Given the description of an element on the screen output the (x, y) to click on. 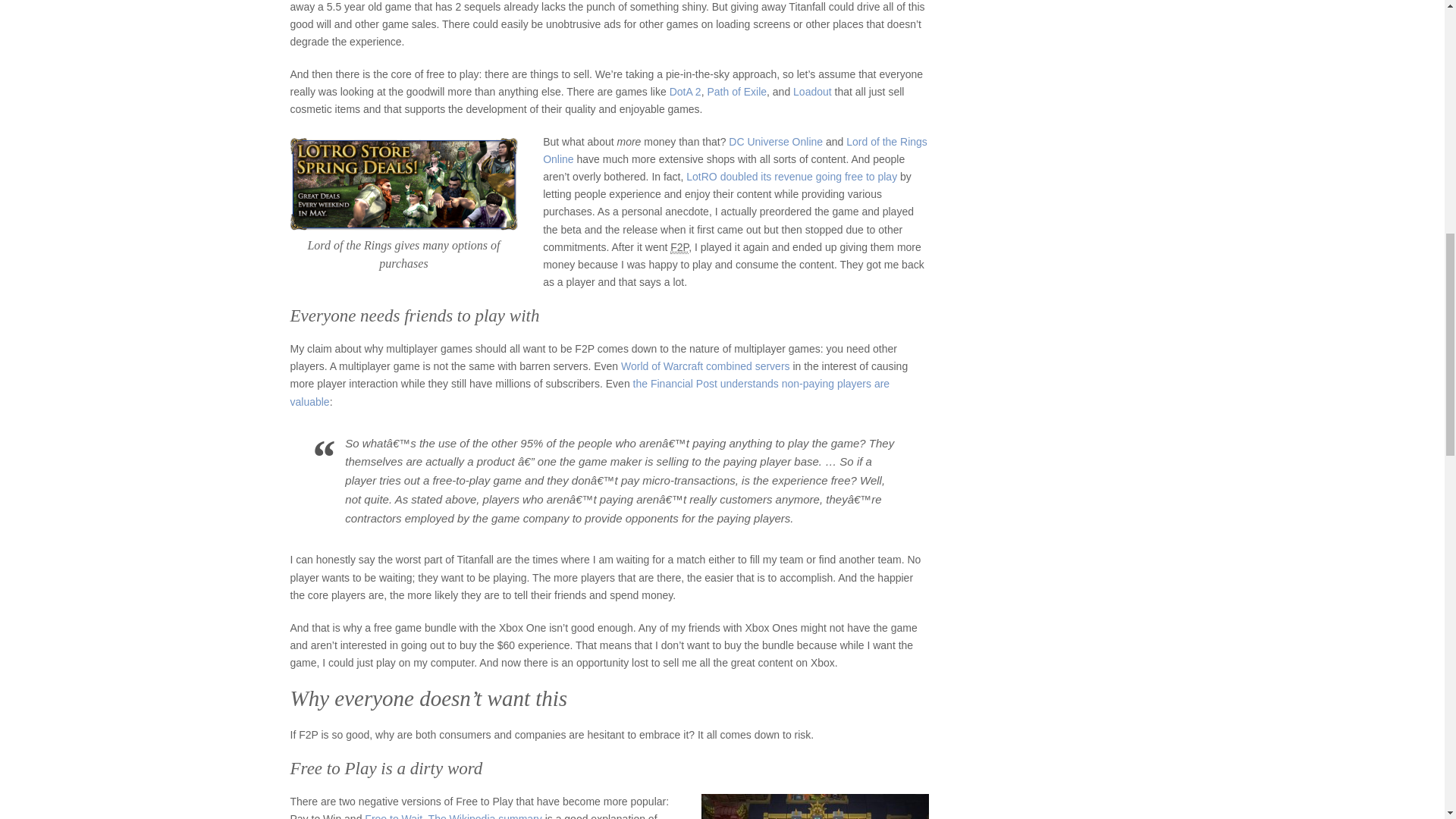
Loadout (812, 91)
World of Warcraft combined servers (705, 366)
Path of Exile (736, 91)
DotA 2 (685, 91)
Free to Play (678, 246)
The Wikipedia summary (484, 816)
DC Universe Online (775, 141)
LotRO doubled its revenue going free to play (790, 176)
Lord of the Rings Online (735, 150)
Free to Wait (393, 816)
